Given the description of an element on the screen output the (x, y) to click on. 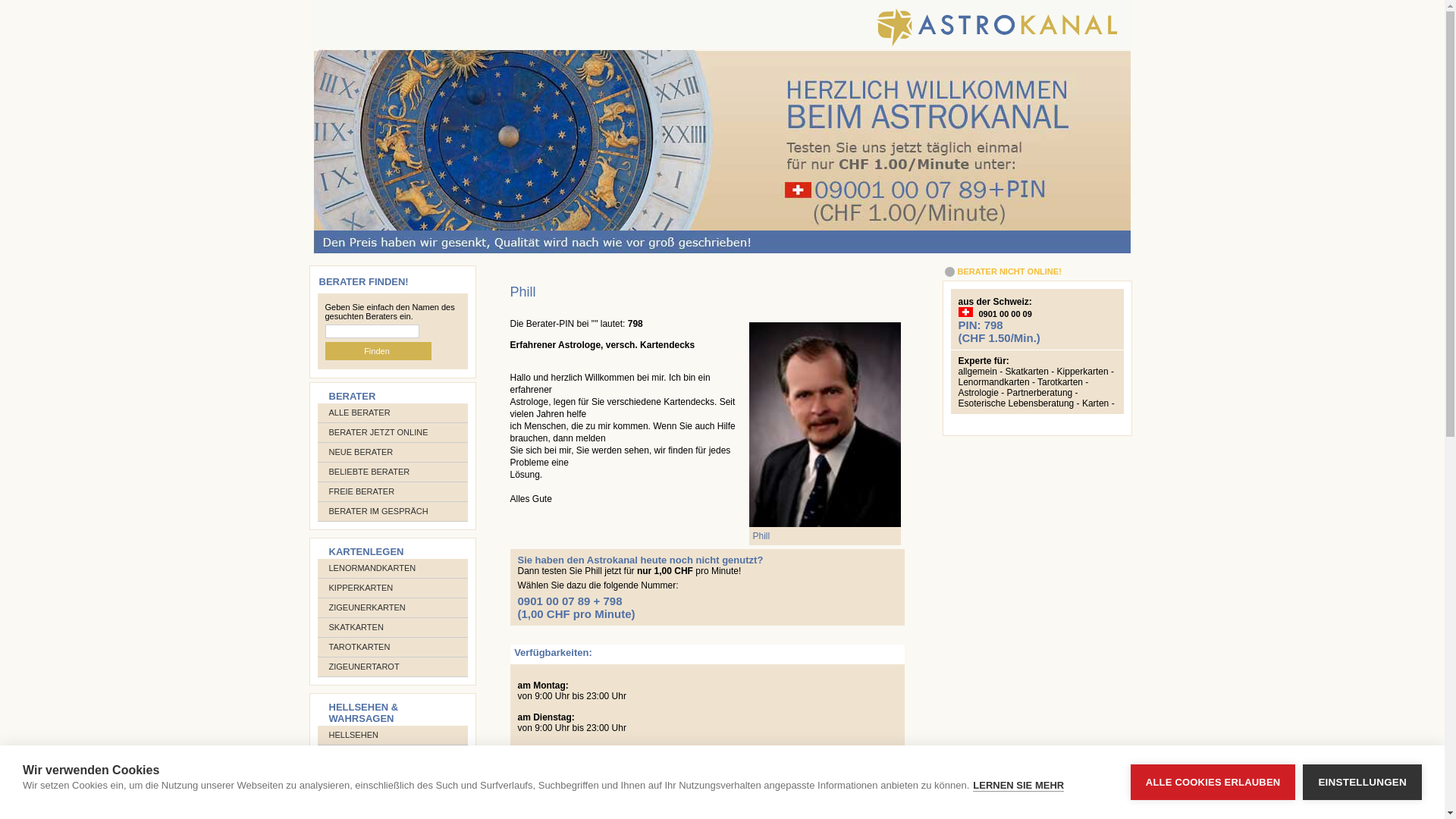
BERATER Element type: text (352, 395)
ALLE COOKIES ERLAUBEN Element type: text (1212, 782)
WAHRSAGEN Element type: text (356, 754)
TRAUMDEUTUNG Element type: text (364, 773)
ALLE BERATER Element type: text (359, 412)
LENORMANDKARTEN Element type: text (372, 567)
0901 00 00 09 Element type: text (1004, 313)
BELIEBTE BERATER Element type: text (369, 471)
LERNEN SIE MEHR Element type: text (1017, 785)
ZIGEUNERTAROT Element type: text (364, 666)
FREIE BERATER Element type: text (362, 490)
KARTENLEGEN Element type: text (366, 551)
PENDEL Element type: text (345, 813)
HELLSEHEN Element type: text (353, 734)
   Element type: text (721, 148)
ZIGEUNERKARTEN Element type: text (367, 606)
HELLSEHEN & WAHRSAGEN Element type: text (363, 712)
NEUE BERATER Element type: text (361, 451)
TAROTKARTEN Element type: text (359, 646)
BERATER JETZT ONLINE Element type: text (378, 431)
EINSTELLUNGEN Element type: text (1361, 782)
KRISTALLKUGEL Element type: text (362, 793)
Finden  Element type: text (377, 351)
KIPPERKARTEN Element type: text (361, 587)
SKATKARTEN Element type: text (356, 626)
